Given the description of an element on the screen output the (x, y) to click on. 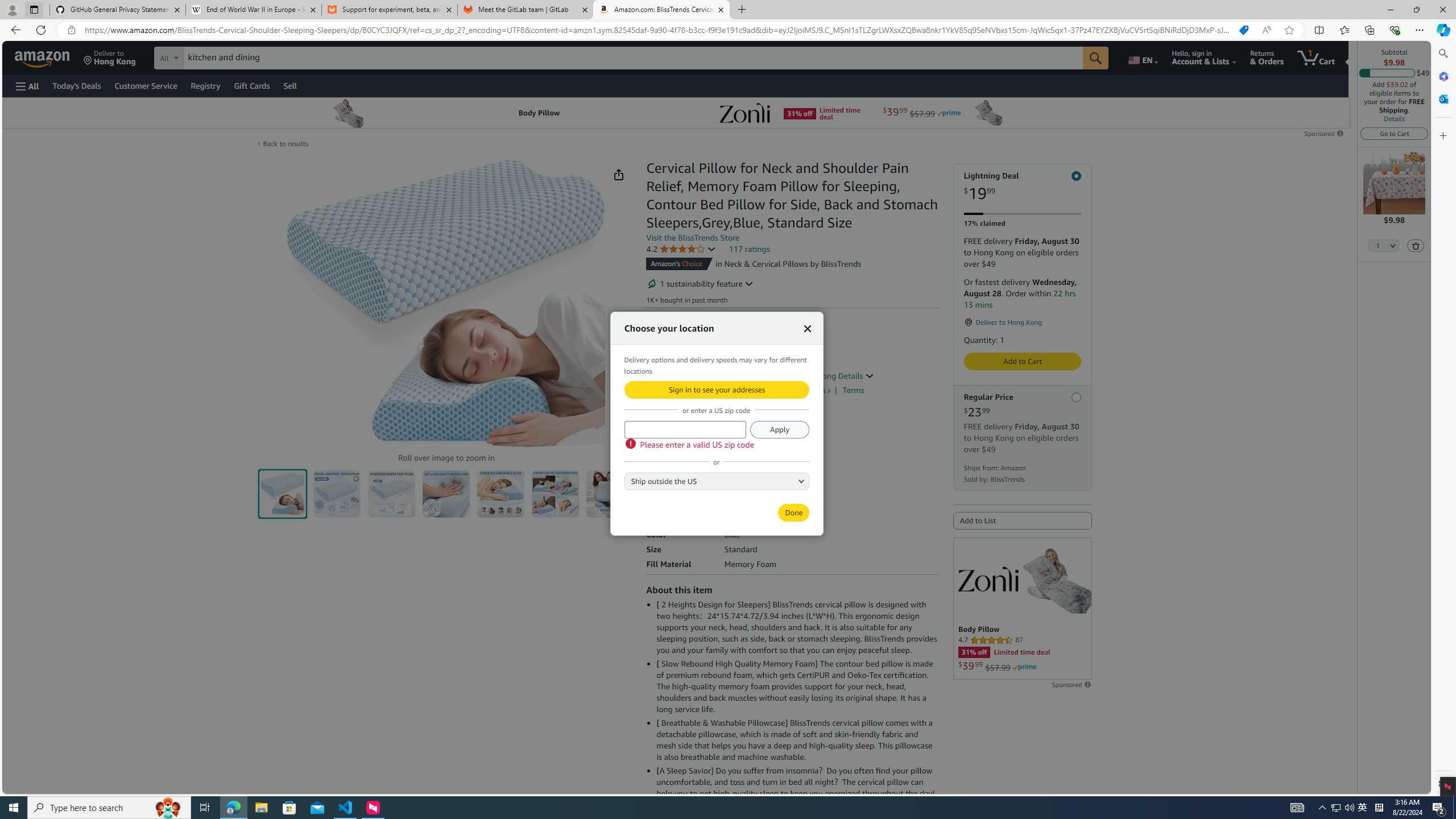
Share (618, 174)
Logo (987, 578)
Sponsored ad (1022, 608)
Go to Cart (1393, 133)
Skip to main content (48, 56)
Meet the GitLab team | GitLab (525, 9)
Sell (290, 85)
Customer Service (145, 85)
